Given the description of an element on the screen output the (x, y) to click on. 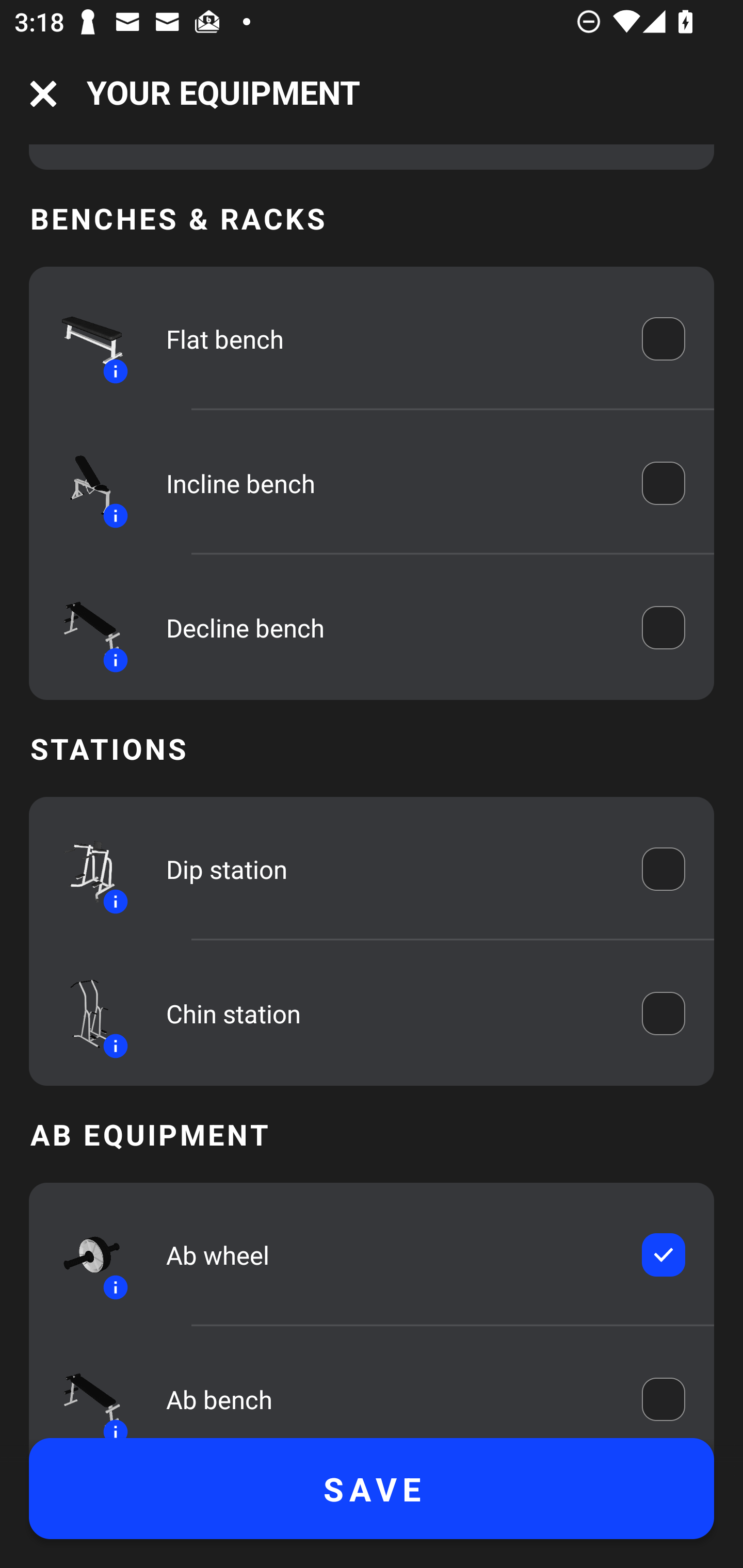
Navigation icon (43, 93)
Equipment icon Information icon (82, 339)
Flat bench (389, 338)
Equipment icon Information icon (82, 483)
Incline bench (389, 483)
Equipment icon Information icon (82, 627)
Decline bench (389, 627)
Equipment icon Information icon (82, 869)
Dip station (389, 869)
Equipment icon Information icon (82, 1013)
Chin station (389, 1013)
Equipment icon Information icon (82, 1255)
Ab wheel (389, 1255)
Equipment icon Information icon (82, 1391)
Ab bench (389, 1396)
SAVE (371, 1488)
